Given the description of an element on the screen output the (x, y) to click on. 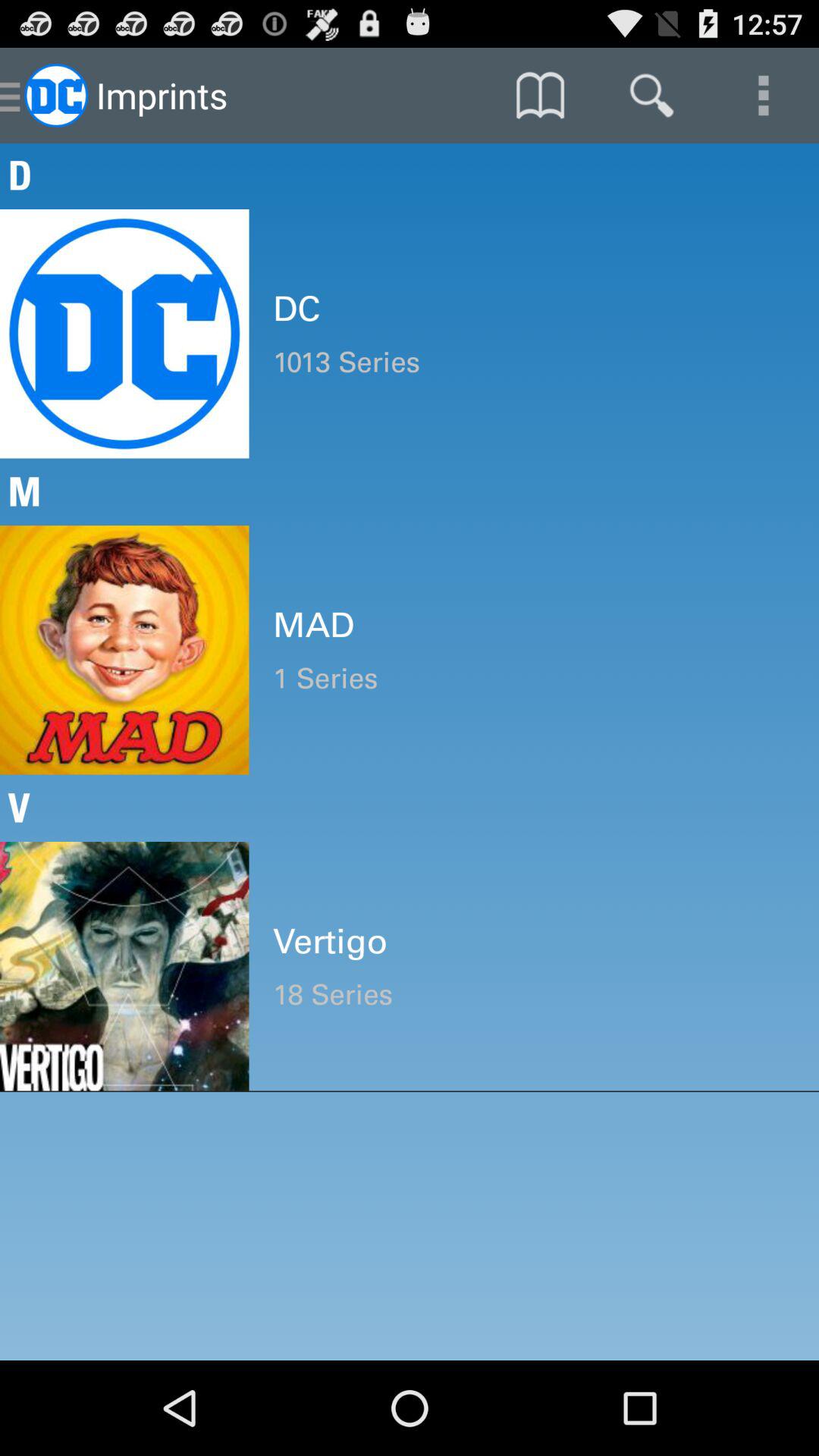
launch item above the d icon (763, 95)
